Given the description of an element on the screen output the (x, y) to click on. 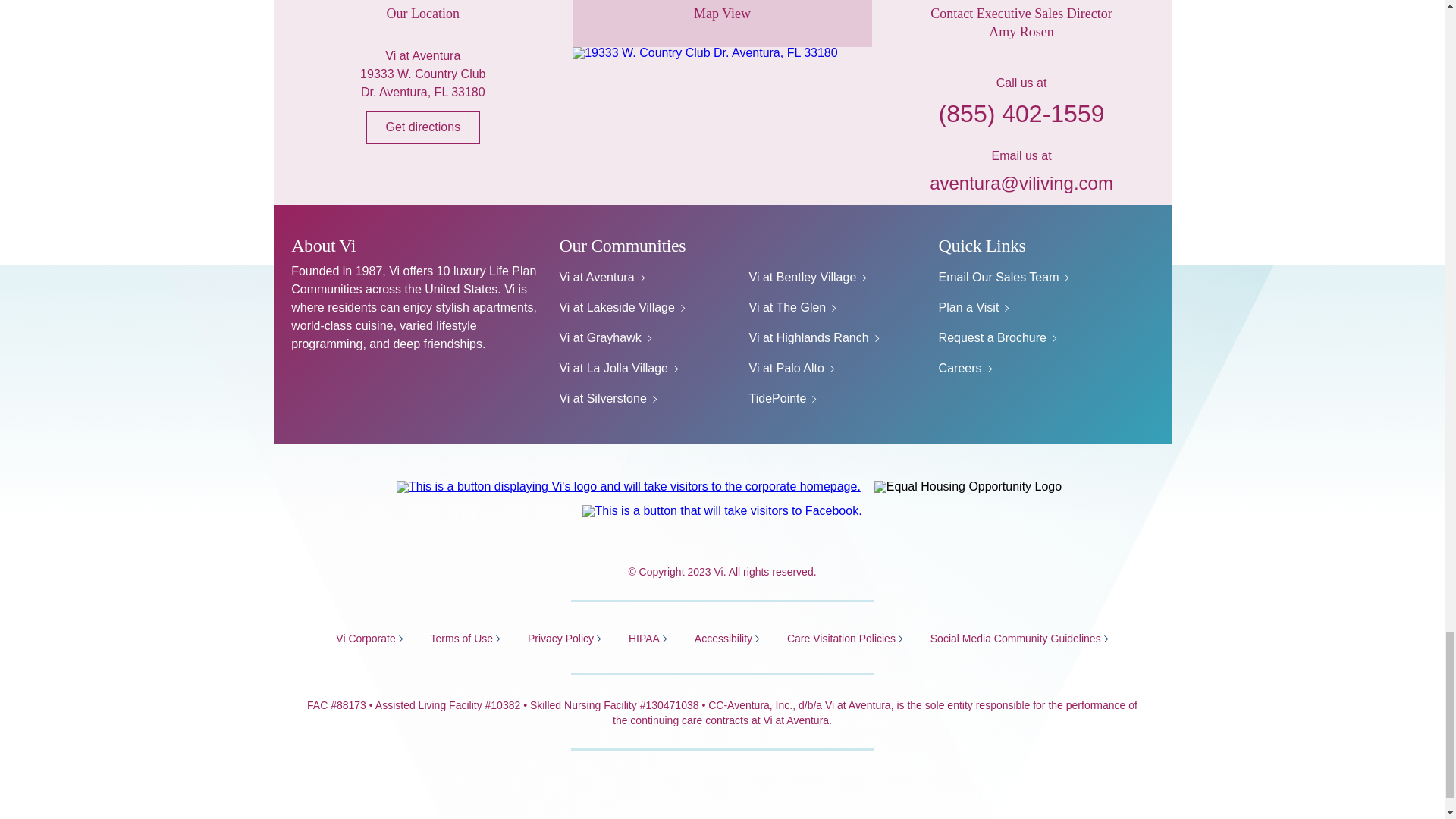
Get directions (422, 127)
